Given the description of an element on the screen output the (x, y) to click on. 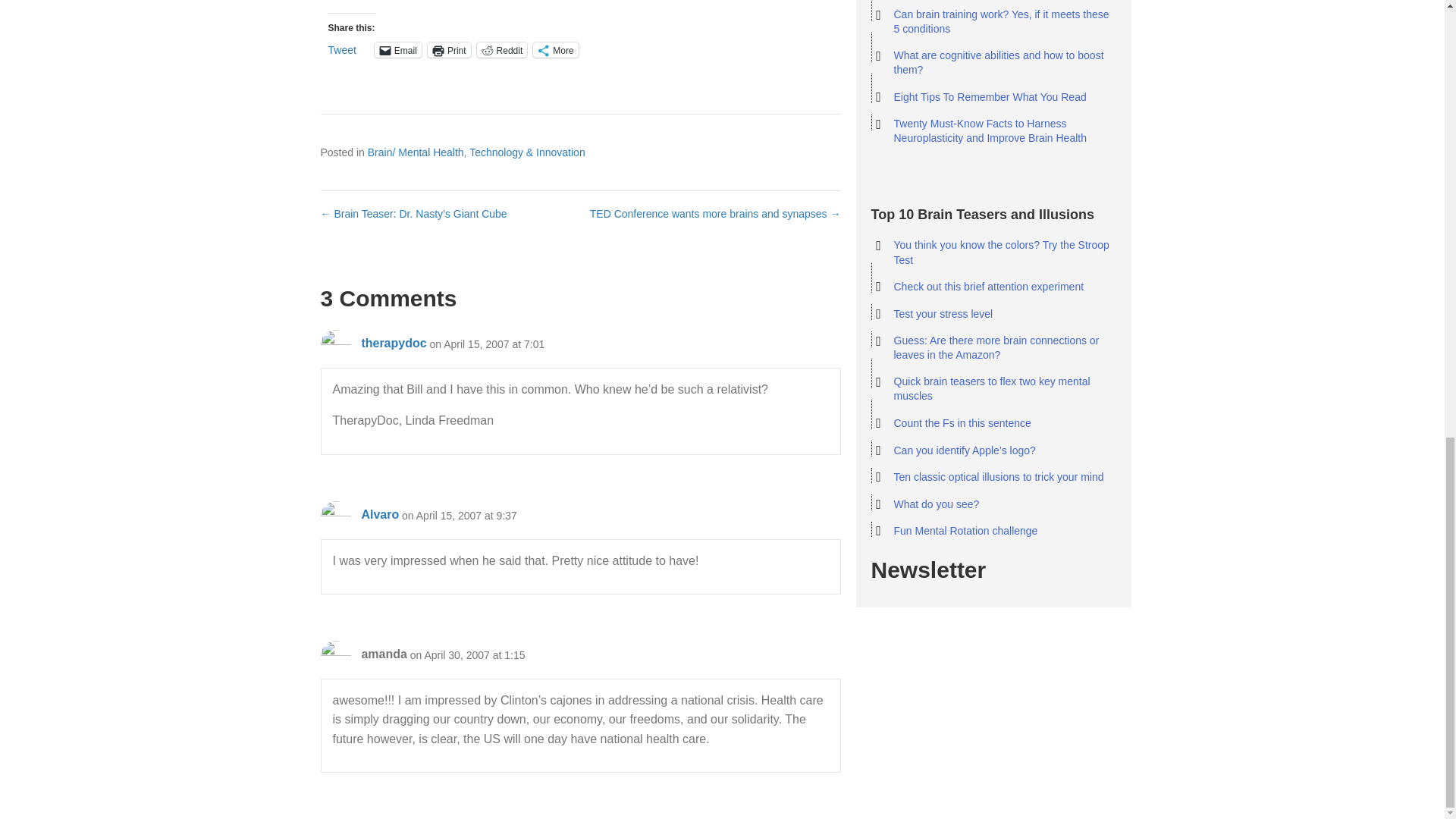
Click to email a link to a friend (398, 49)
Click to share on Reddit (502, 49)
Click to print (449, 49)
